Given the description of an element on the screen output the (x, y) to click on. 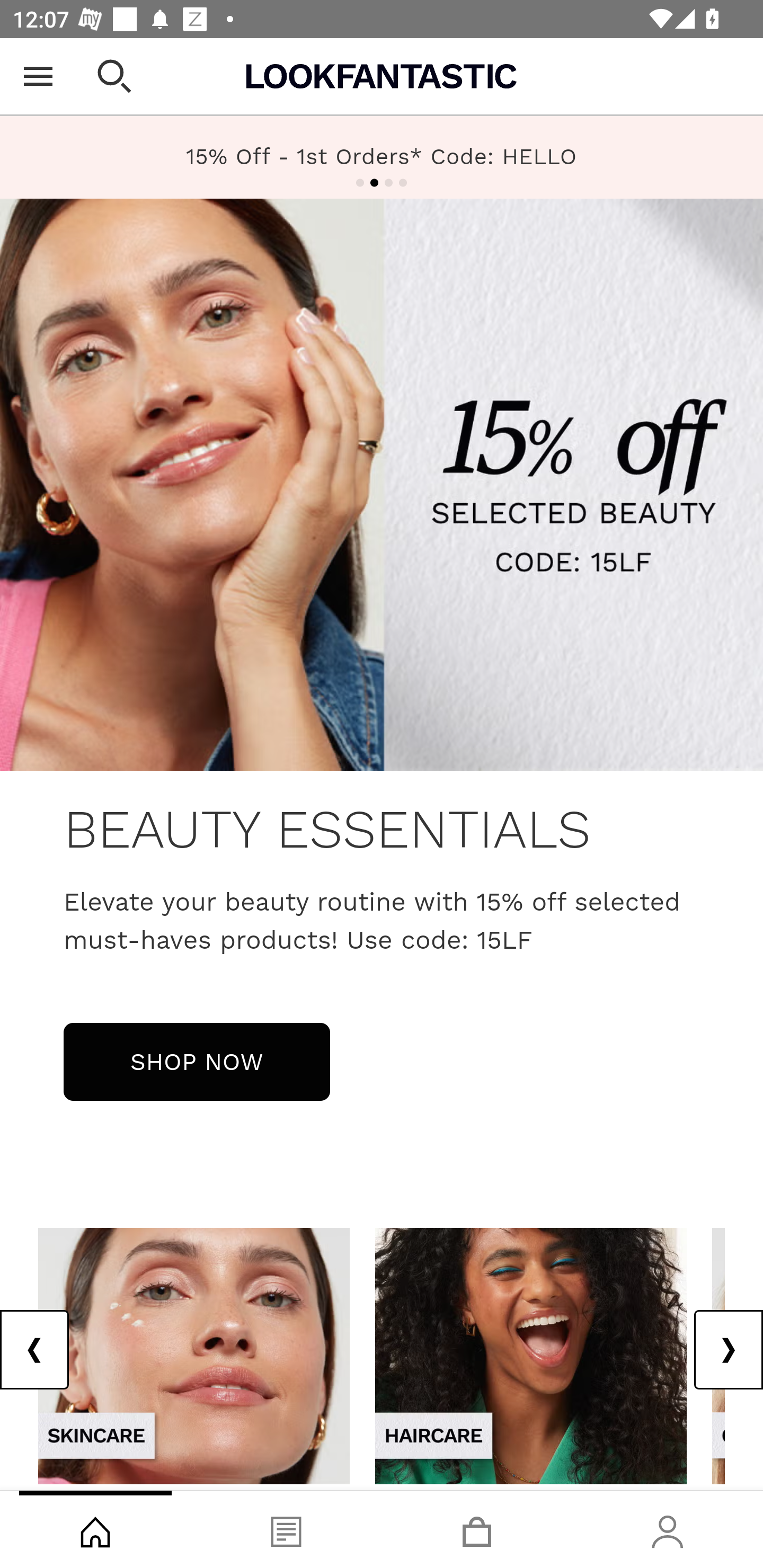
Open Menu (38, 75)
Open search (114, 75)
Lookfantastic USA (381, 75)
SHOP NOW (196, 1061)
view-all (193, 1355)
view-all (530, 1355)
Previous (35, 1349)
Next (727, 1349)
Shop, tab, 1 of 4 (95, 1529)
Blog, tab, 2 of 4 (285, 1529)
Basket, tab, 3 of 4 (476, 1529)
Account, tab, 4 of 4 (667, 1529)
